Given the description of an element on the screen output the (x, y) to click on. 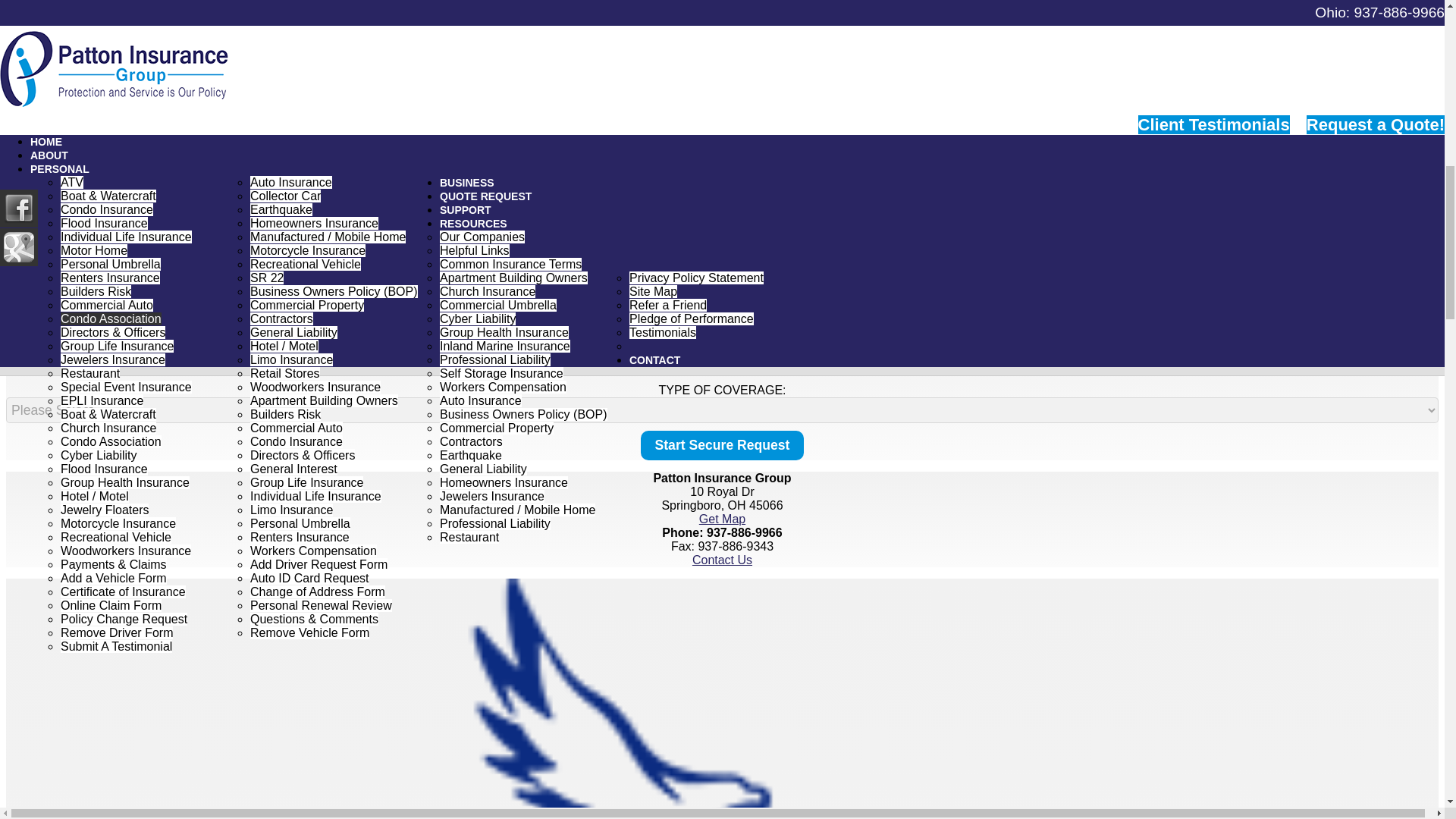
Start Secure Request (722, 445)
